Given the description of an element on the screen output the (x, y) to click on. 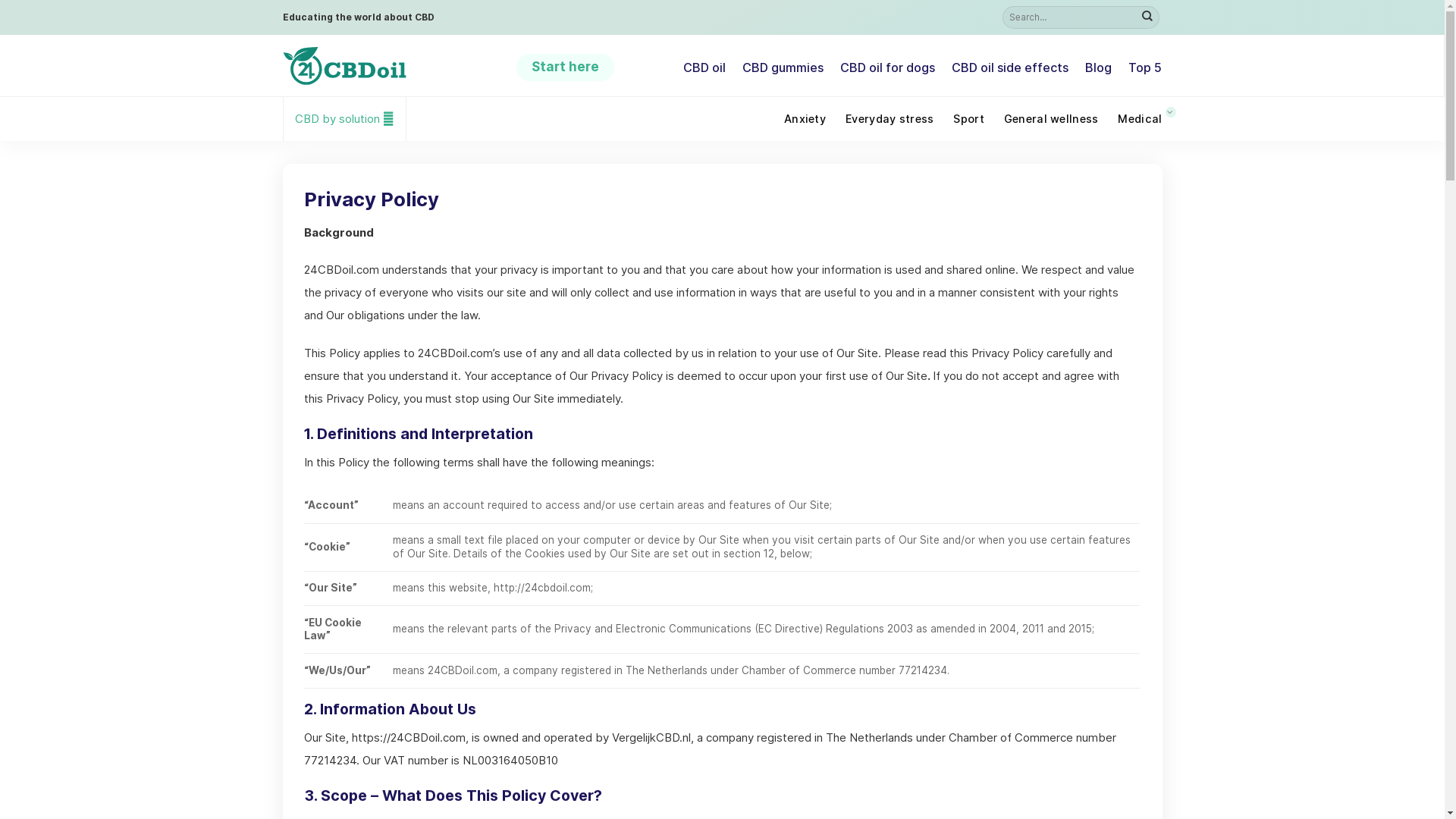
CBD oil for dogs Element type: text (887, 67)
CBD oil side effects Element type: text (1009, 67)
Anxiety Element type: text (804, 118)
Everyday stress Element type: text (889, 118)
General wellness Element type: text (1051, 118)
24CBDoil.com - Everything about CBD oil Element type: hover (387, 65)
Sport Element type: text (968, 118)
CBD gummies Element type: text (782, 67)
CBD oil Element type: text (704, 67)
Blog Element type: text (1098, 67)
Top 5 Element type: text (1144, 67)
Medical Element type: text (1139, 118)
